Given the description of an element on the screen output the (x, y) to click on. 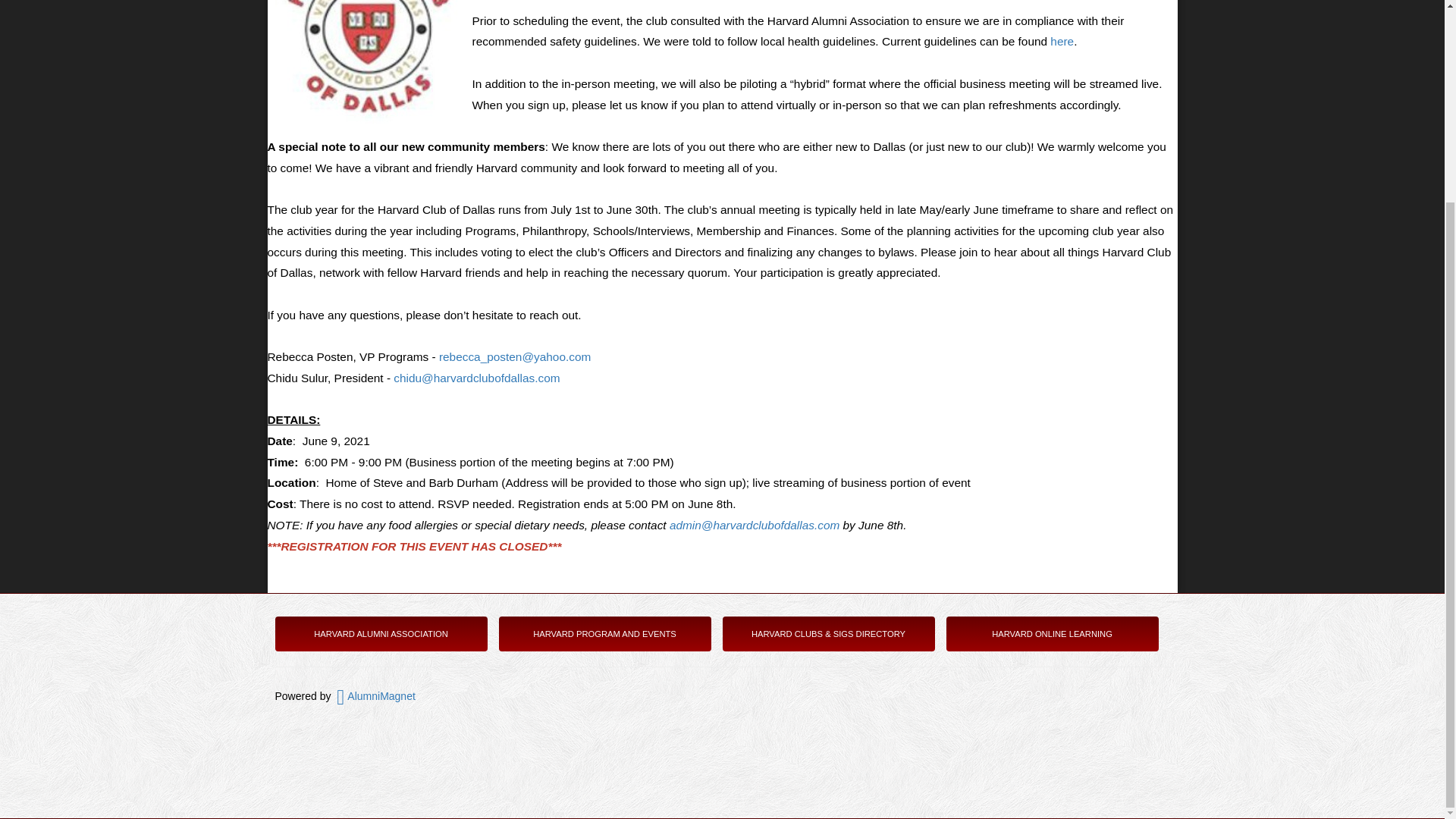
HARVARD PROGRAM AND EVENTS (604, 633)
HARVARD ONLINE LEARNING (1051, 633)
AlumniMagnet (375, 695)
HARVARD ALUMNI ASSOCIATION (381, 633)
here (1061, 41)
